Given the description of an element on the screen output the (x, y) to click on. 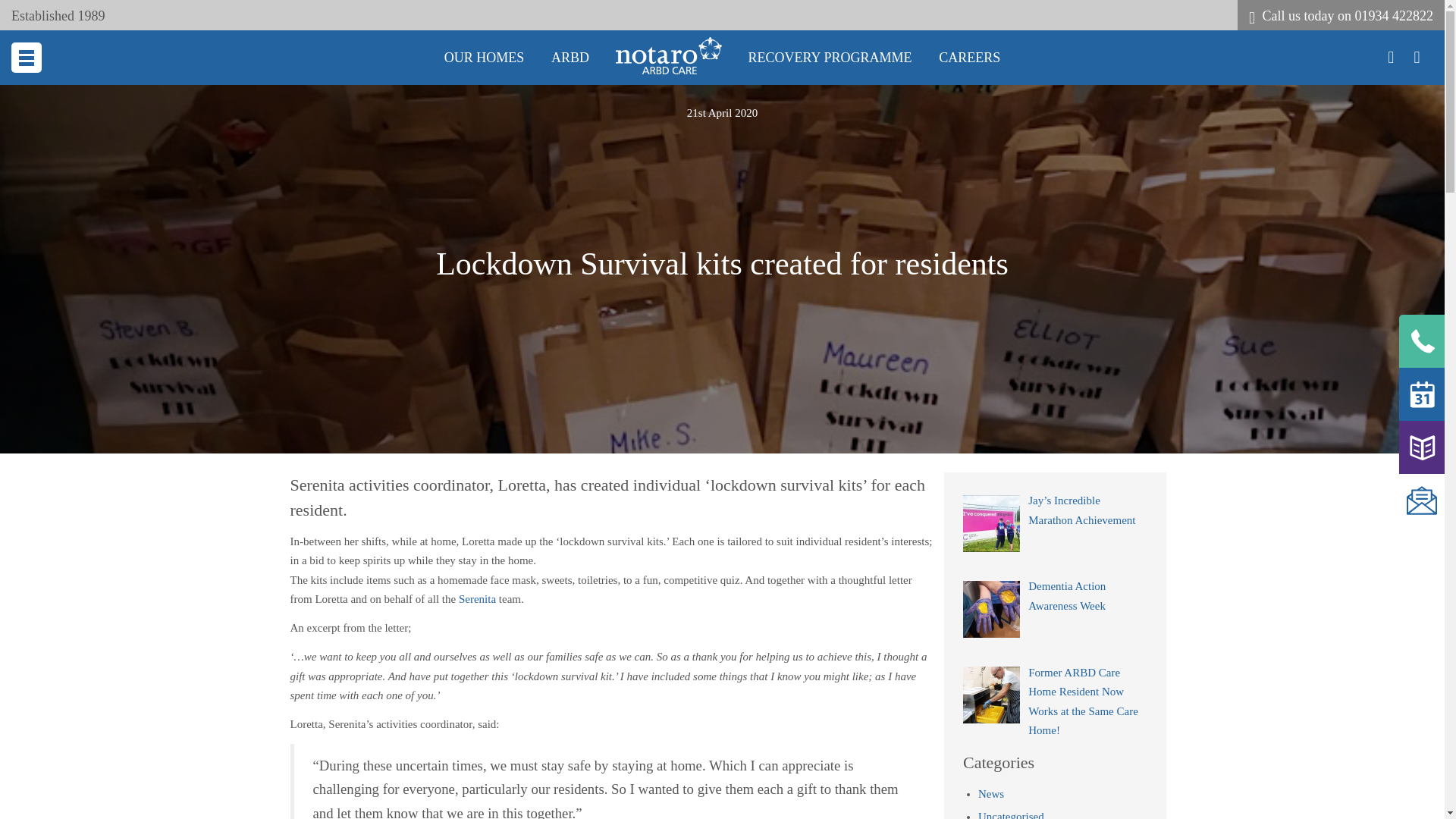
RECOVERY PROGRAMME (238, 289)
NEWS (238, 398)
HOME (238, 145)
ARBD CARE (238, 217)
CAREERS (238, 325)
Download a Brochure (238, 568)
CONTACT US (238, 362)
ABOUT NOTARO (238, 181)
OUR HOMES (238, 253)
ARBD Care (668, 55)
